Given the description of an element on the screen output the (x, y) to click on. 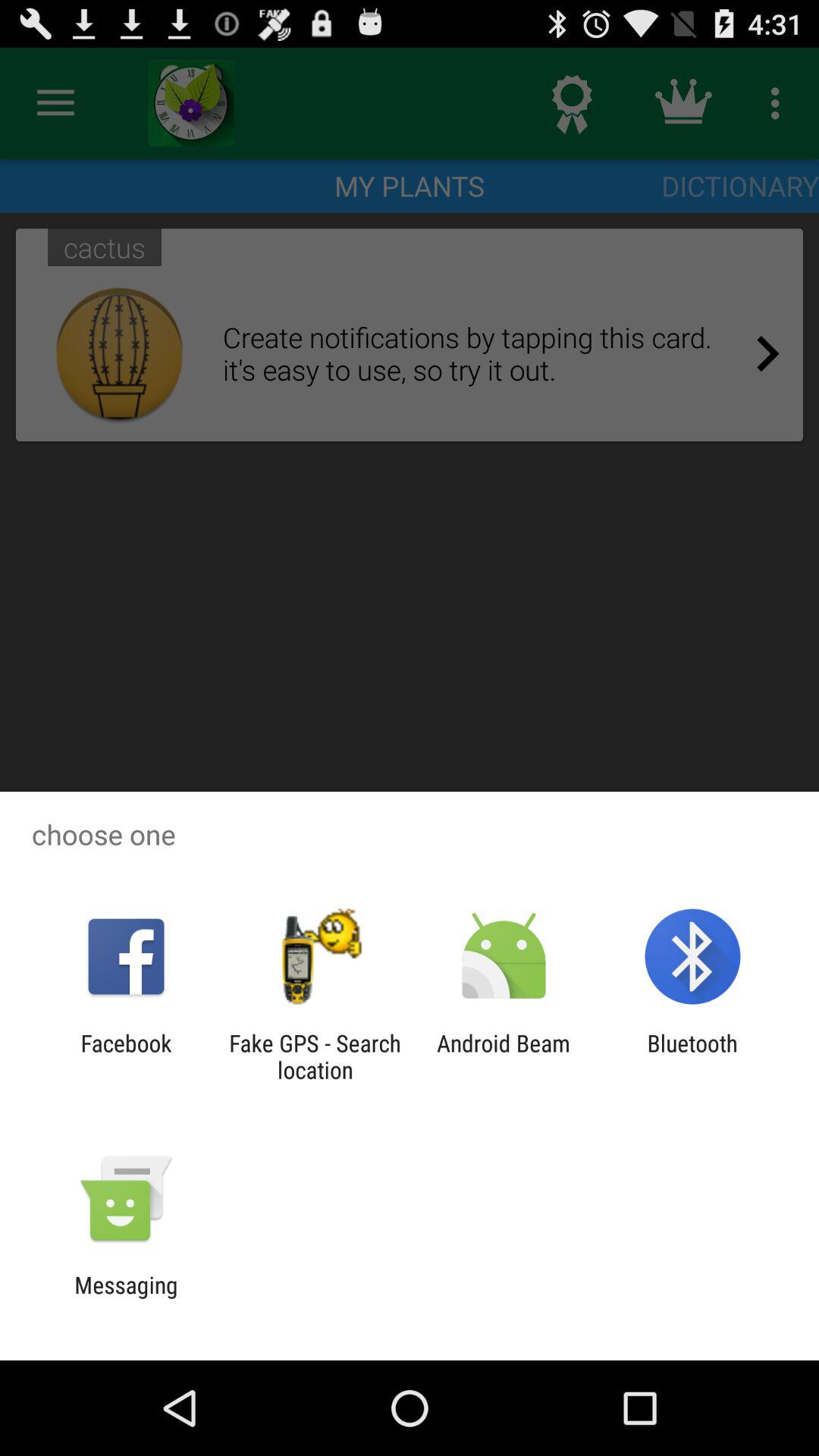
tap app to the left of the android beam (314, 1056)
